Given the description of an element on the screen output the (x, y) to click on. 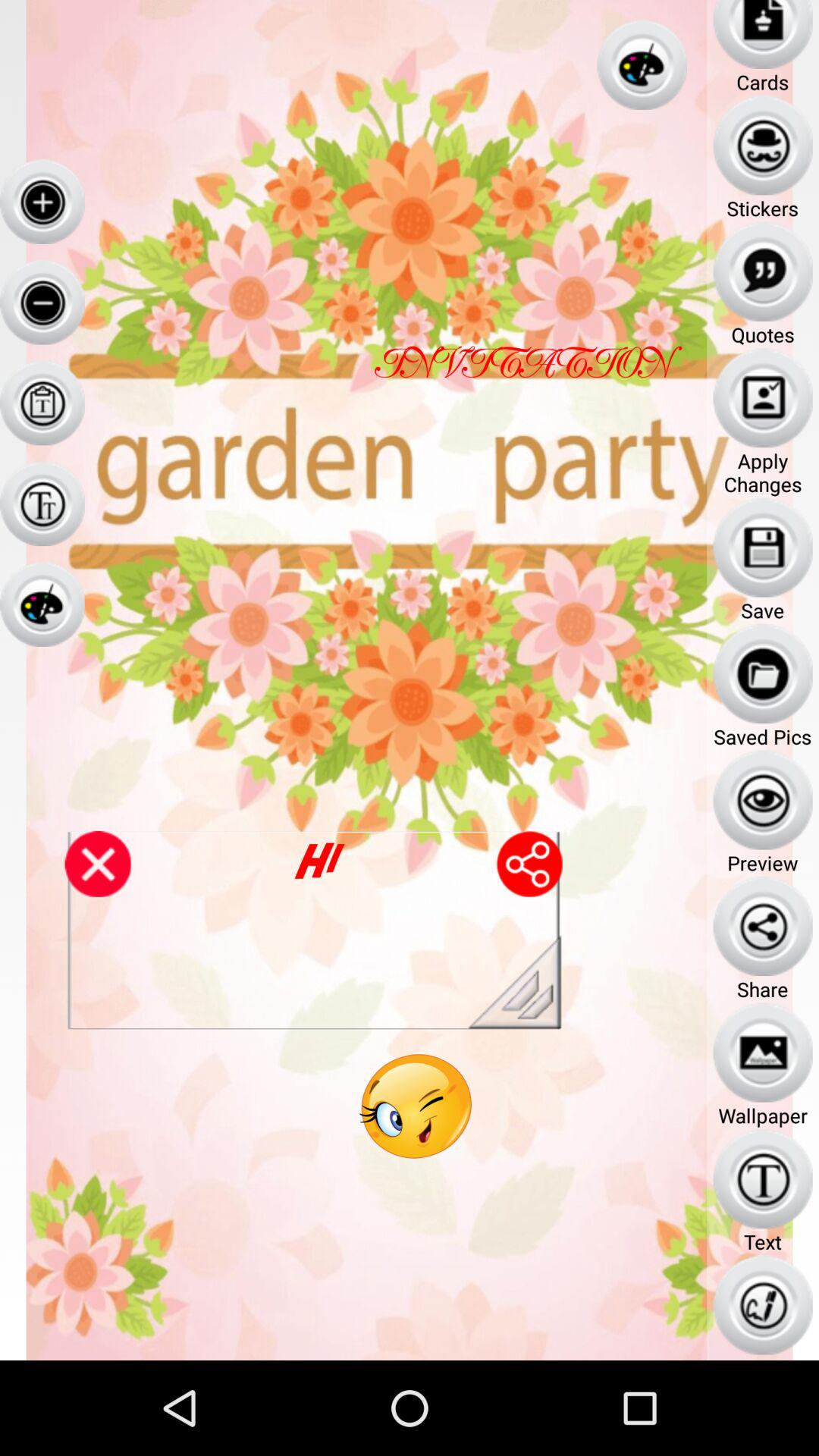
click on icon above stickers (763, 145)
